Given the description of an element on the screen output the (x, y) to click on. 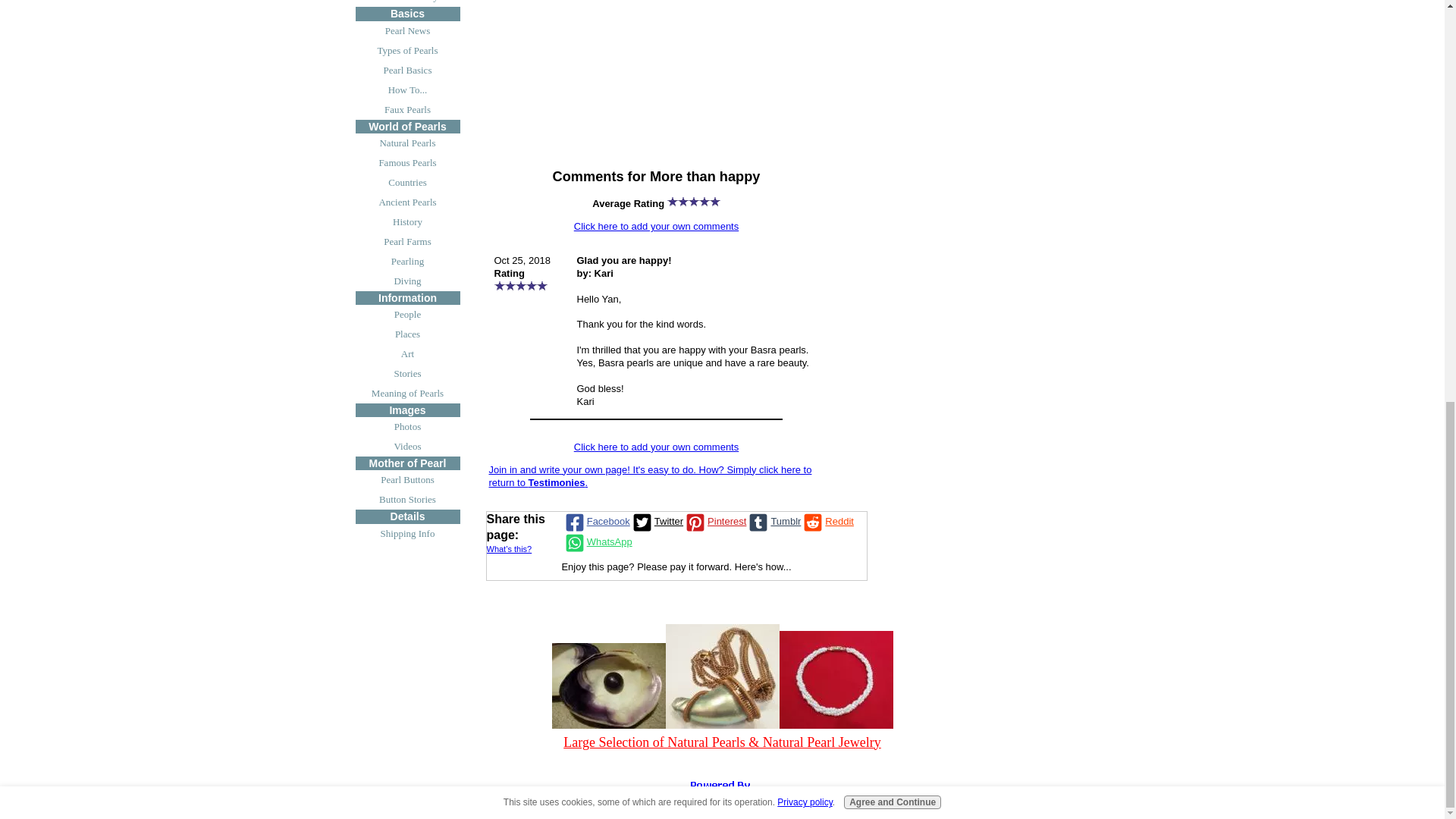
Click here to add your own comments (655, 446)
Famous Pearls (407, 162)
Pearl News (407, 30)
Faux Pearls (407, 109)
Types of Pearls (407, 50)
How To... (407, 89)
YOUR Jewelry (407, 3)
Reddit (826, 521)
Click here to add your own comments (655, 225)
Pearl Basics (407, 70)
Advertisement (675, 77)
Pinterest (713, 521)
Tumblr (772, 521)
Facebook (596, 521)
